Given the description of an element on the screen output the (x, y) to click on. 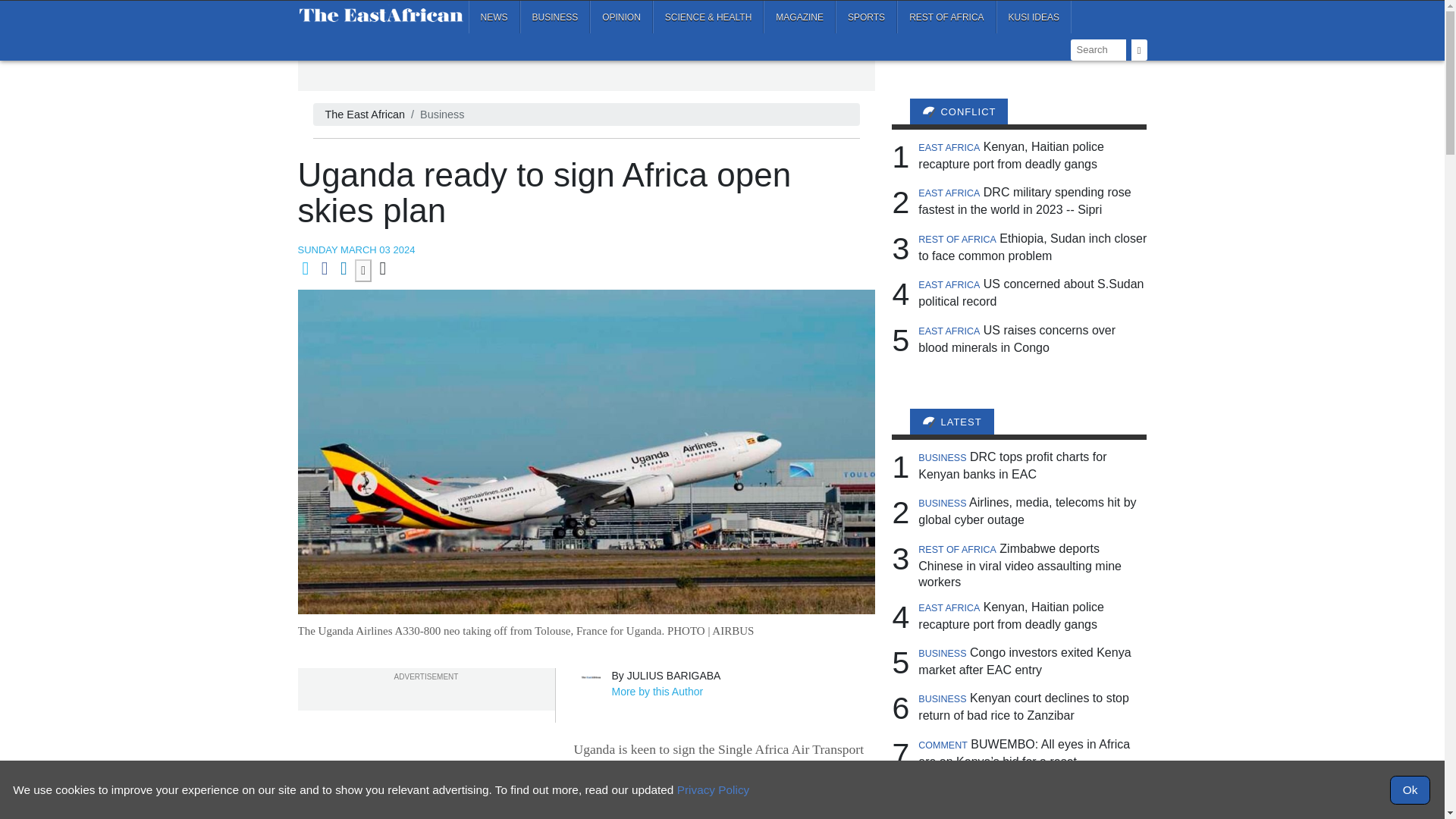
Privacy Policy (713, 789)
OPINION (620, 16)
MAGAZINE (798, 16)
BUSINESS (555, 16)
Ok (1409, 789)
SPORTS (865, 16)
Privacy Policy (713, 789)
NEWS (493, 16)
